Given the description of an element on the screen output the (x, y) to click on. 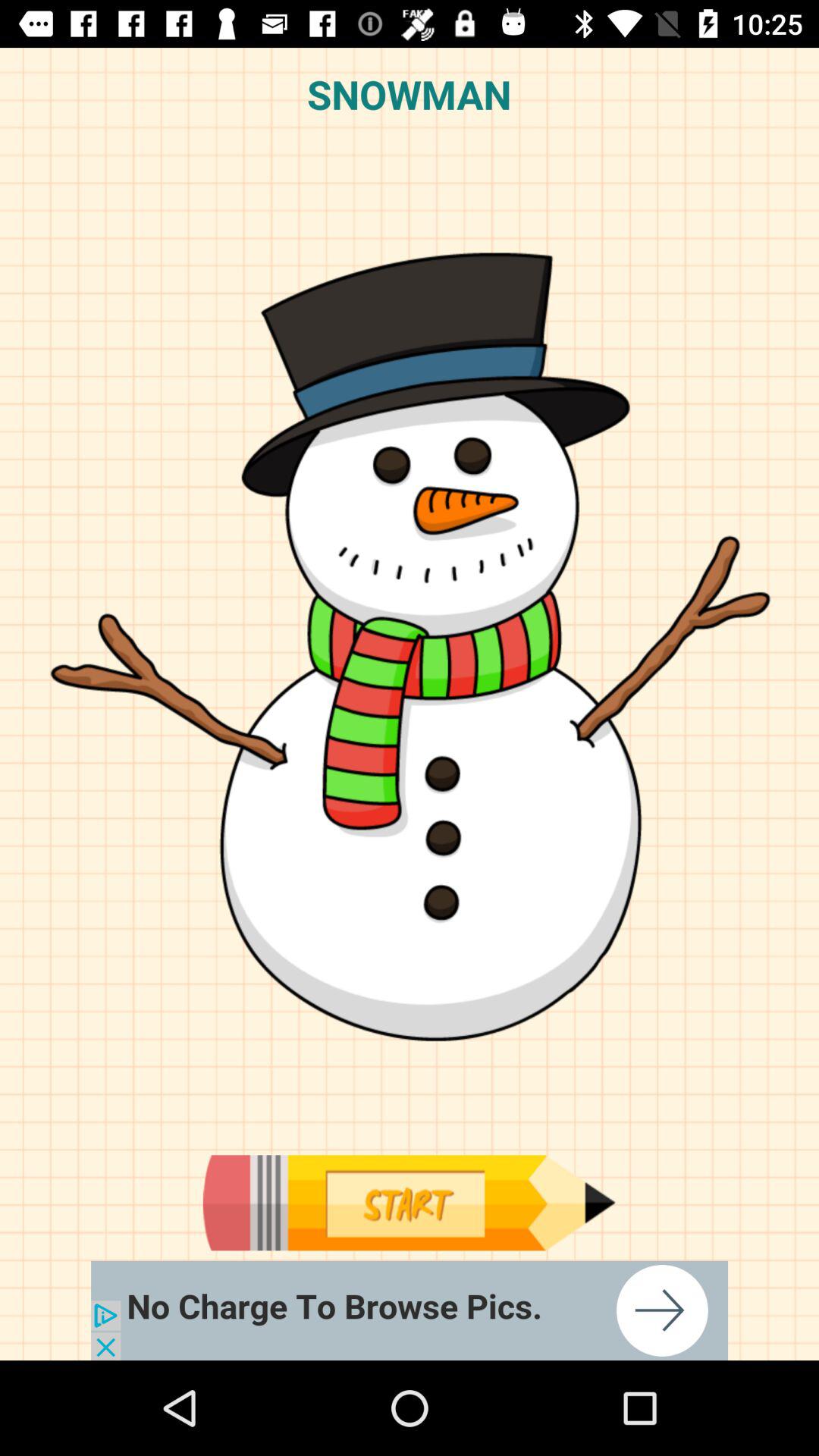
browse pics (409, 1310)
